Given the description of an element on the screen output the (x, y) to click on. 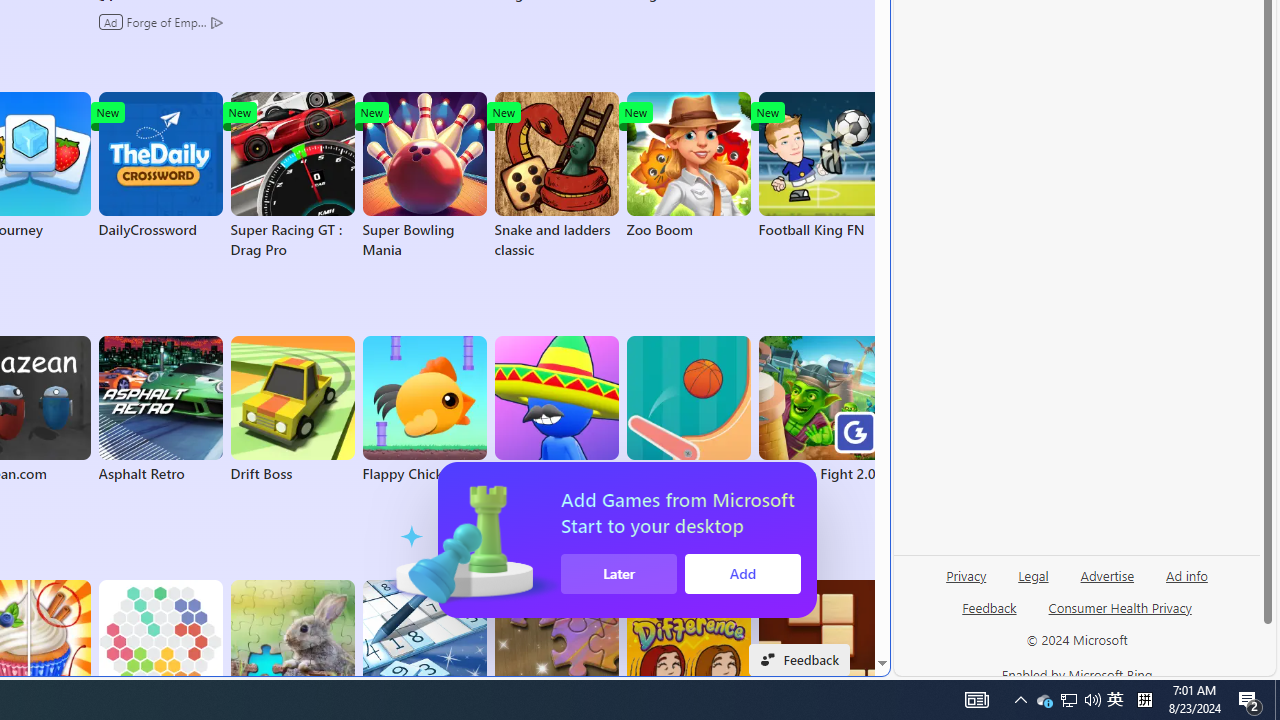
Pinball Basketball (688, 409)
